Given the description of an element on the screen output the (x, y) to click on. 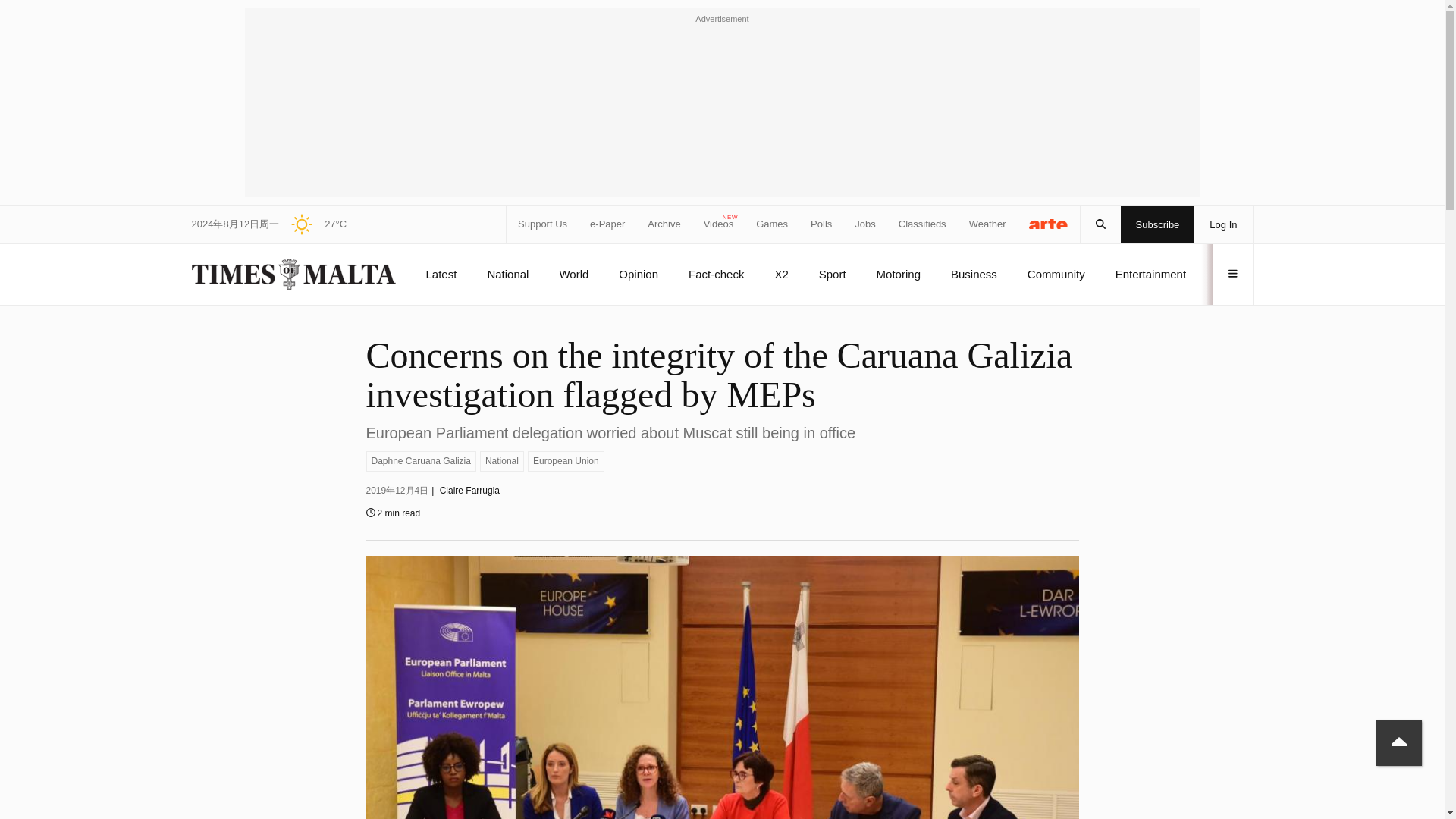
European Union (565, 461)
ARTE (1048, 223)
View more articles by Claire Farrugia (469, 490)
Weather (987, 224)
Additional weather information (312, 224)
Support Us (542, 224)
Subscribe (1158, 224)
Log In (1222, 224)
e-Paper (606, 224)
